Given the description of an element on the screen output the (x, y) to click on. 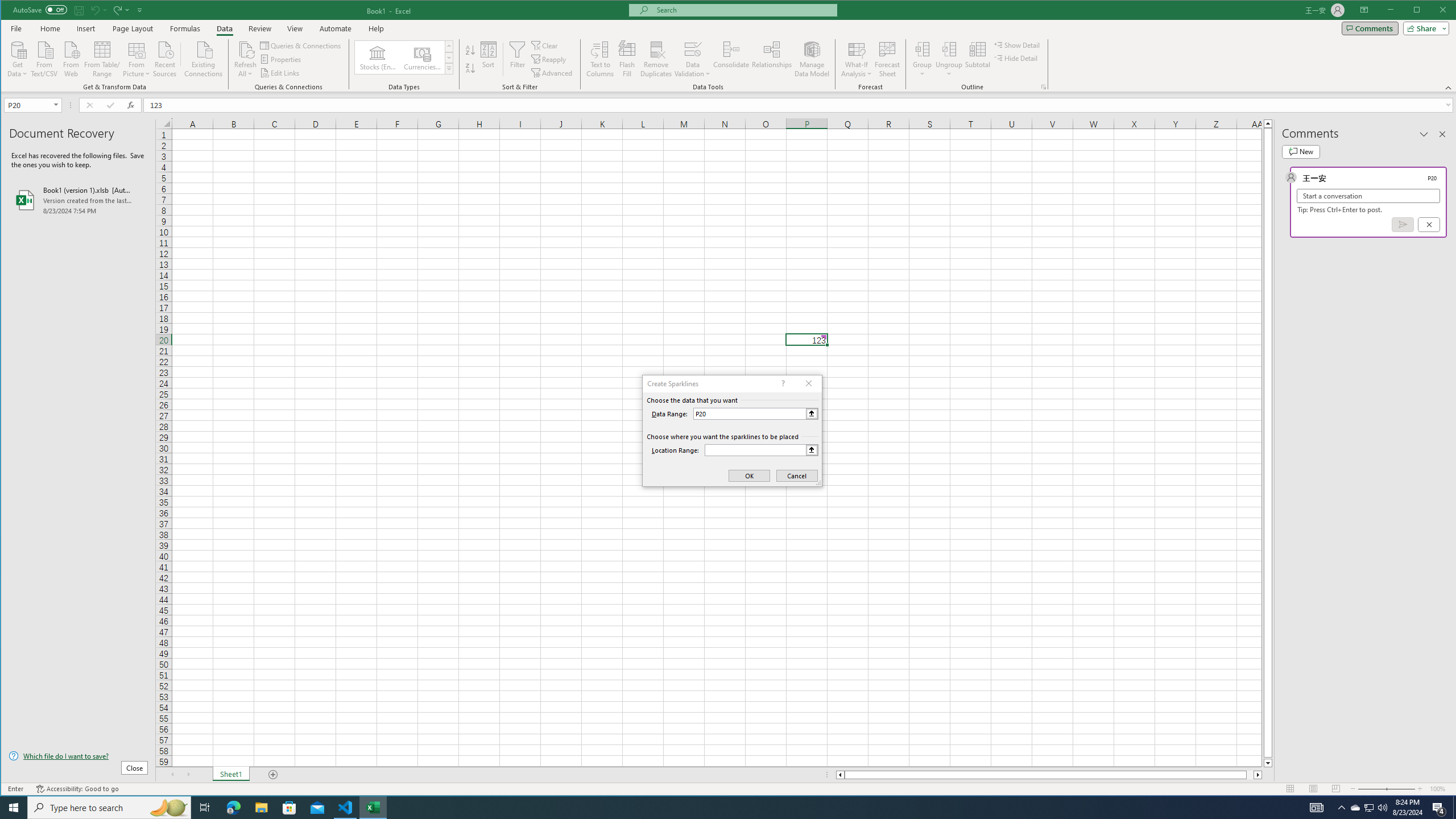
New comment (1300, 151)
Group and Outline Settings (1043, 86)
